Given the description of an element on the screen output the (x, y) to click on. 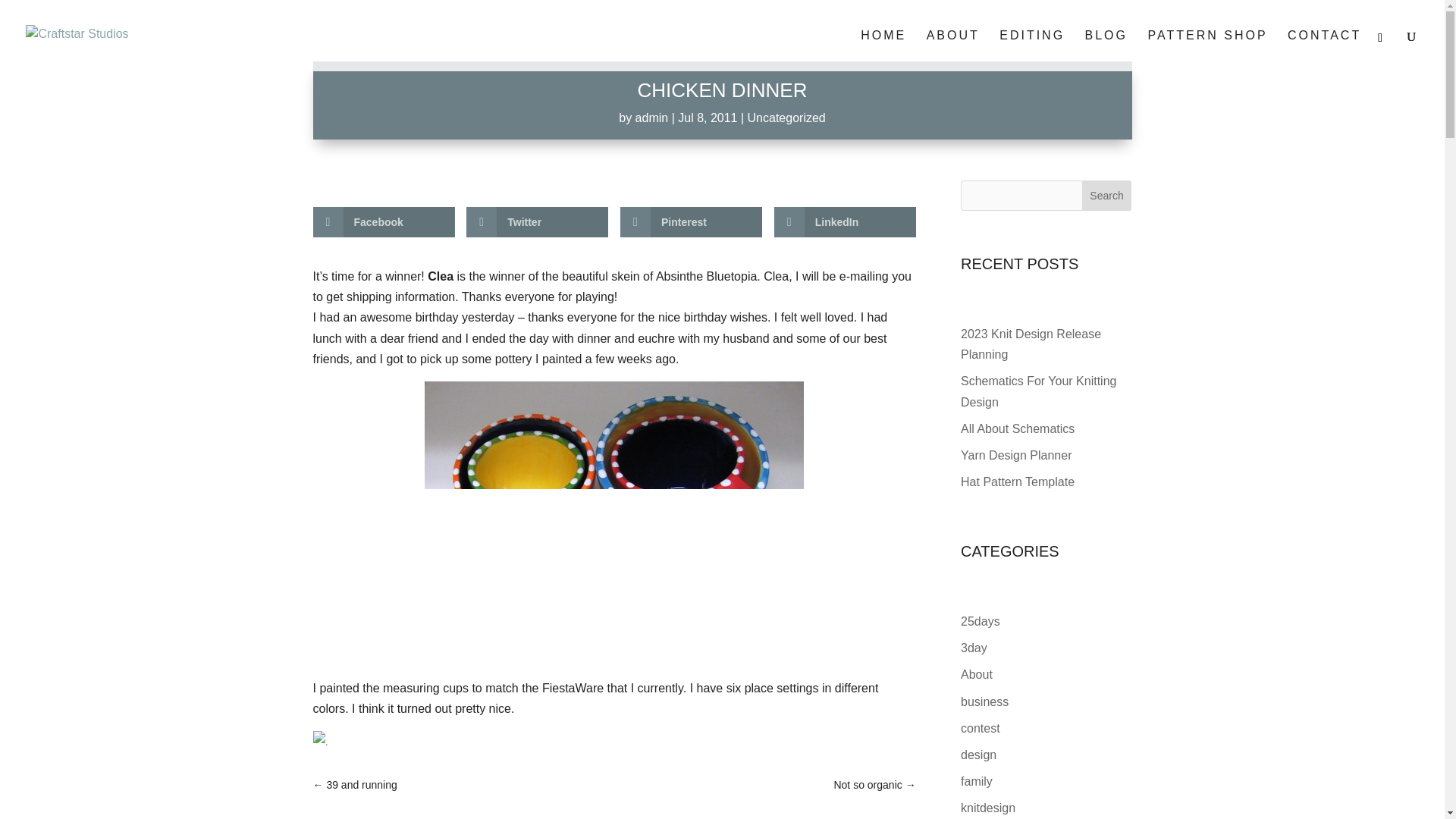
PATTERN SHOP (1206, 50)
Facebook (383, 222)
Hat Pattern Template (1017, 481)
Posts by admin (651, 117)
HOME (882, 50)
25days (980, 621)
Twitter (536, 222)
2023 Knit Design Release Planning (1030, 344)
. by picnicknits, on Flickr (614, 741)
Search (1106, 195)
